Given the description of an element on the screen output the (x, y) to click on. 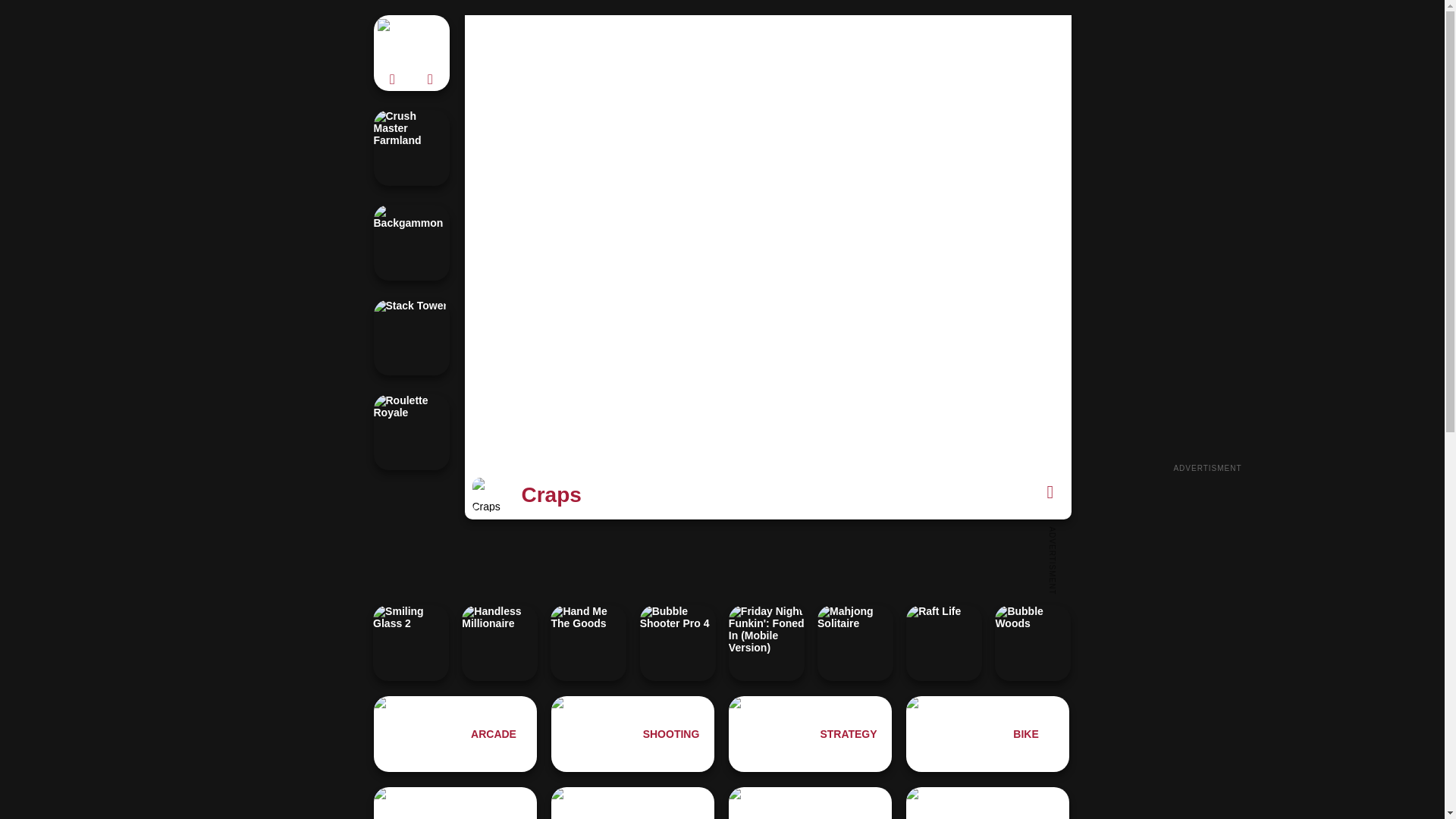
SPORTS (986, 803)
BIKE (986, 734)
Arcade (455, 734)
Raft Life (943, 642)
STRATEGY (810, 734)
MINECRAFT (632, 803)
Smiling Glass 2 (410, 642)
Roulette Royale (410, 431)
MISC (810, 803)
Action (455, 803)
